Given the description of an element on the screen output the (x, y) to click on. 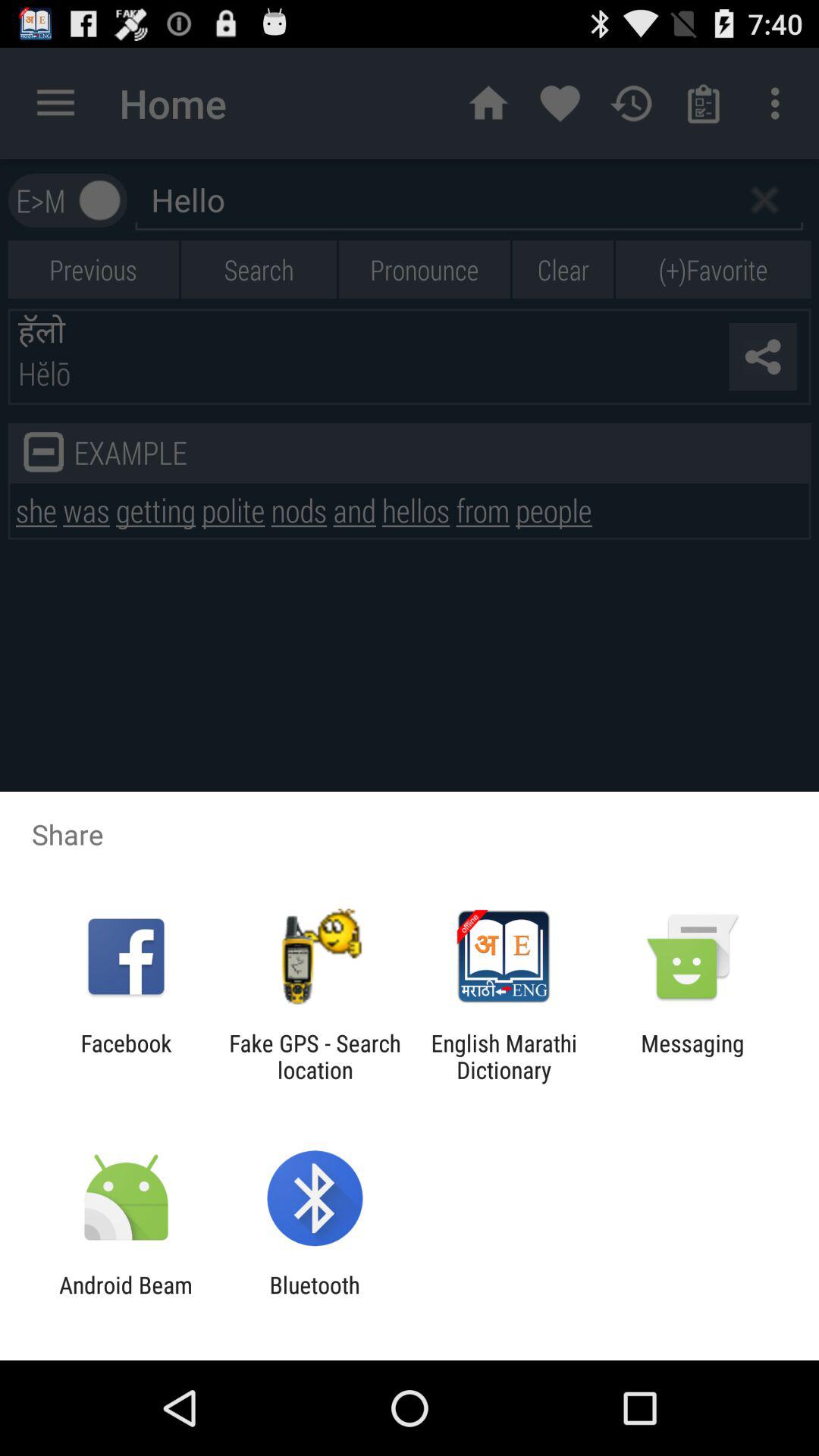
press icon to the left of english marathi dictionary item (314, 1056)
